Given the description of an element on the screen output the (x, y) to click on. 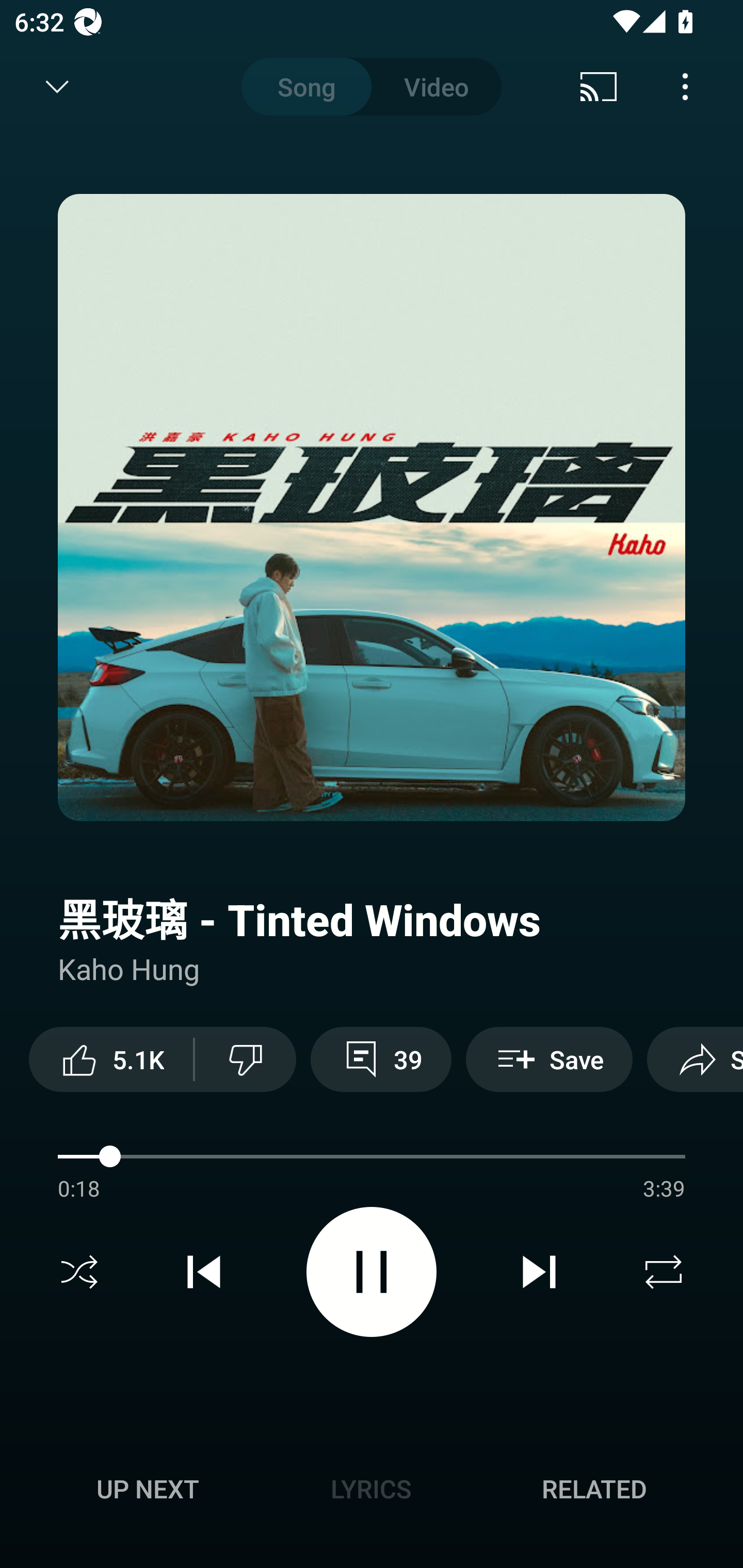
Minimize (57, 86)
Cast. Disconnected (598, 86)
Menu (684, 86)
5.1K like this video along with 5,122 other people (110, 1059)
Dislike (245, 1059)
39 View 39 comments (380, 1059)
Save Save to playlist (548, 1059)
Share (695, 1059)
Pause video (371, 1272)
Shuffle off (79, 1272)
Previous track (203, 1272)
Next track (538, 1272)
Repeat off (663, 1272)
Up next UP NEXT Lyrics LYRICS Related RELATED (371, 1491)
Lyrics LYRICS (370, 1488)
Related RELATED (594, 1488)
